Given the description of an element on the screen output the (x, y) to click on. 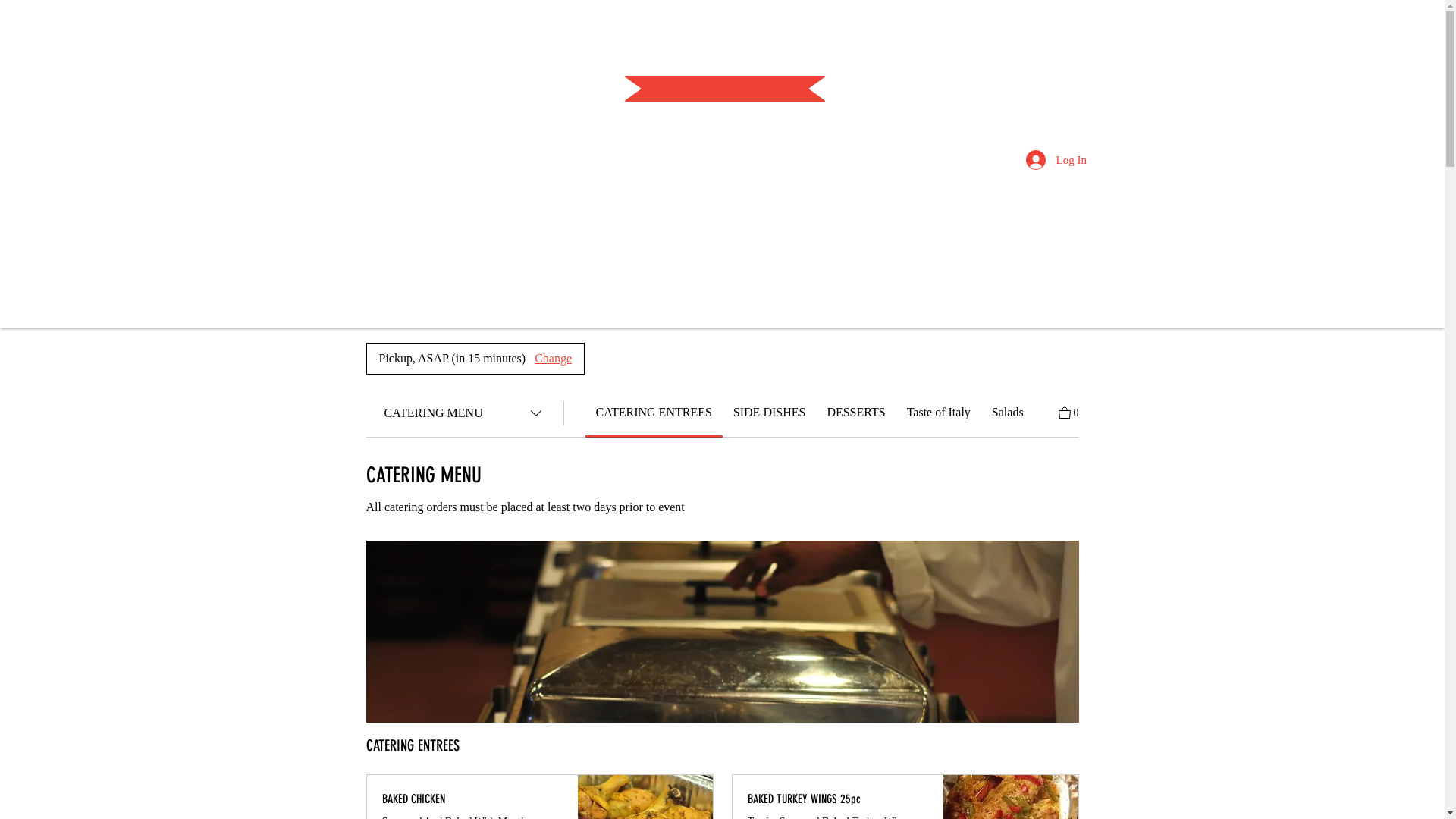
BAKED CHICKEN Element type: text (472, 799)
Change Element type: text (552, 358)
BAKED TURKEY WINGS 25pc Element type: text (837, 799)
Log In Element type: text (1034, 159)
0 Element type: text (1068, 411)
CATERING MENU Element type: text (463, 413)
